Given the description of an element on the screen output the (x, y) to click on. 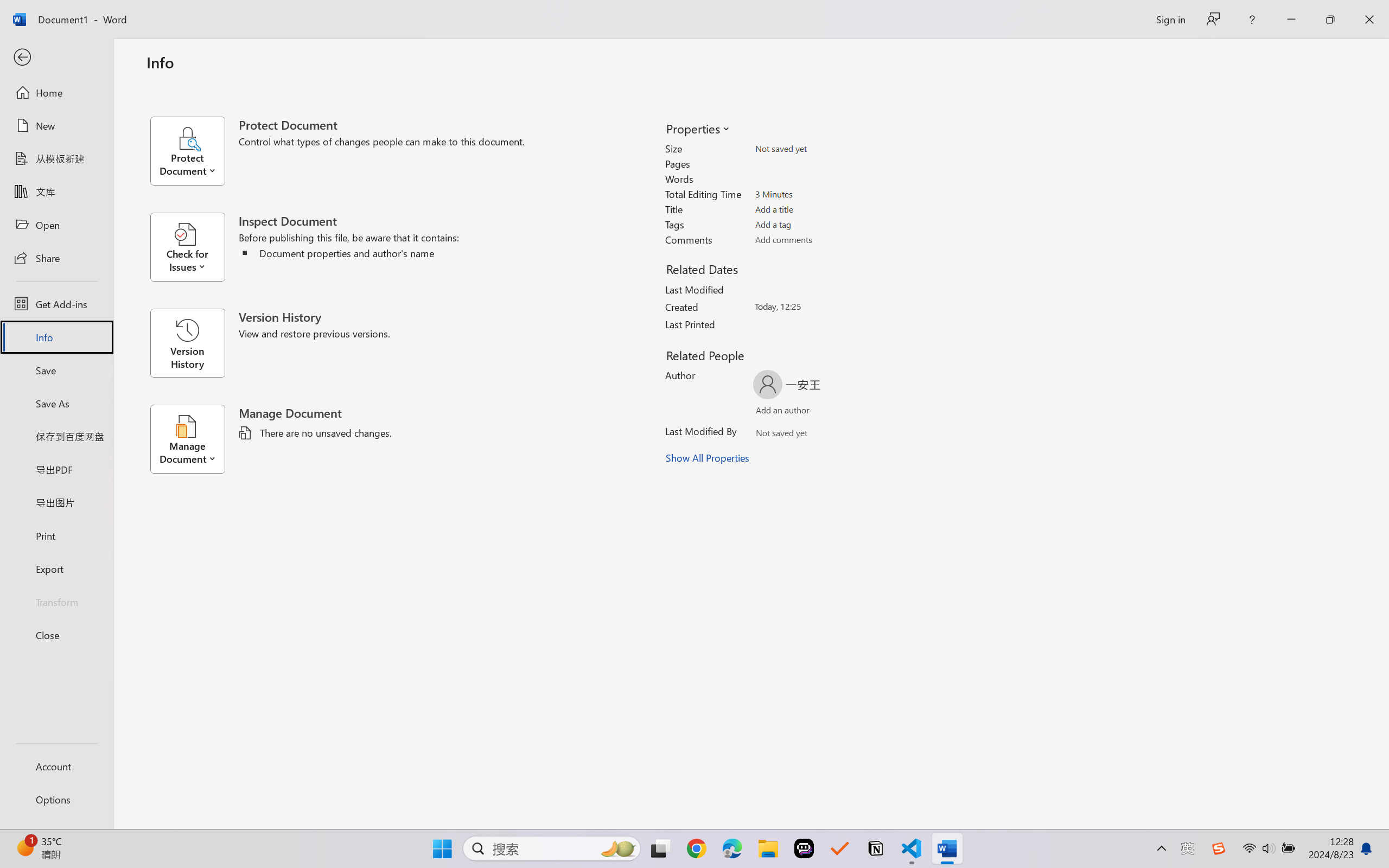
Save As (56, 403)
Browse Address Book (852, 435)
Get Add-ins (56, 303)
Properties (696, 128)
Print (56, 535)
Transform (56, 601)
Size (818, 148)
Version History (187, 343)
Sign in (1170, 18)
